Given the description of an element on the screen output the (x, y) to click on. 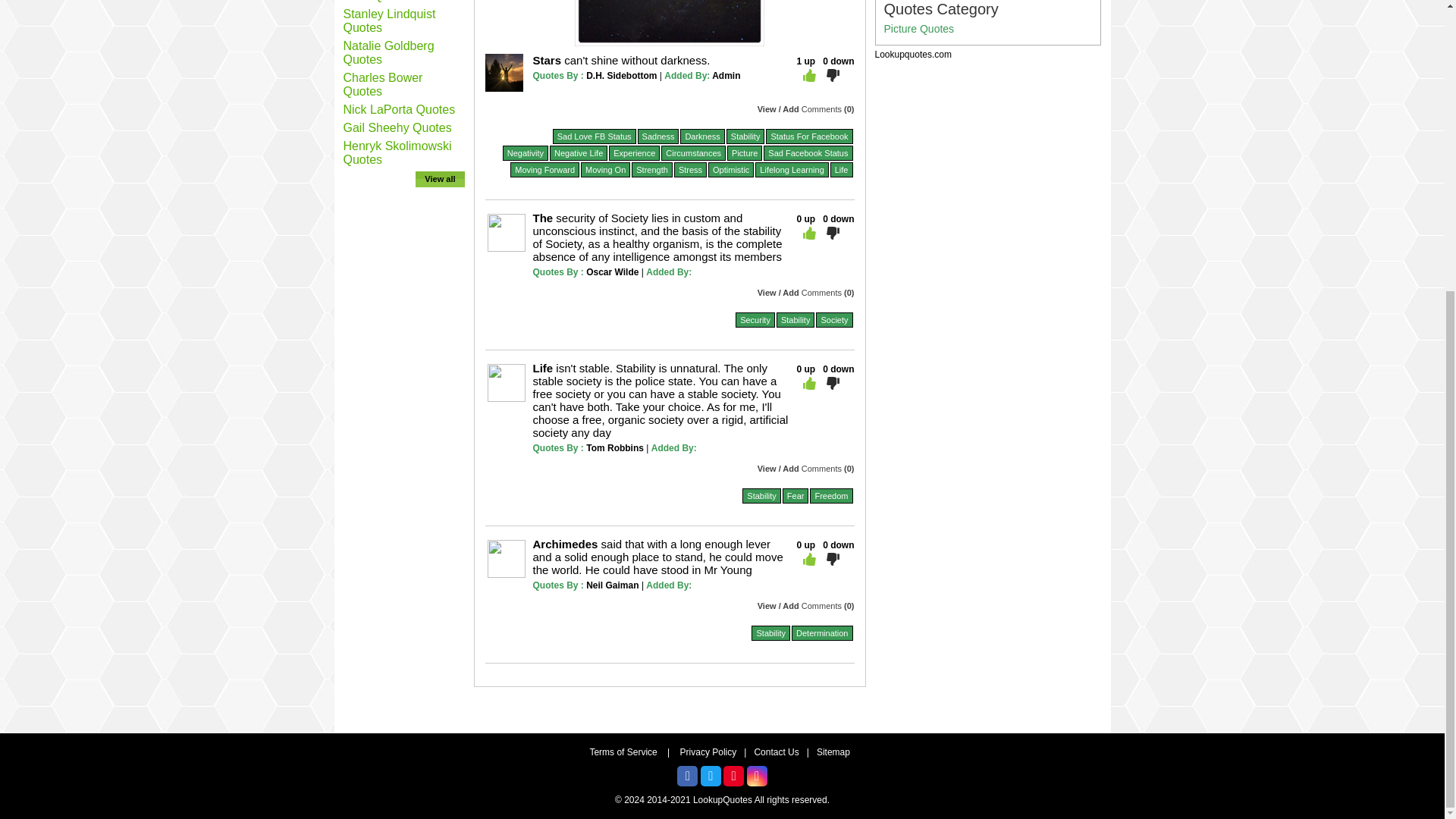
Stanley Lindquist Quotes (388, 20)
Haliz Quotes (377, 1)
Nick LaPorta Quotes (398, 109)
Gail Sheehy Quotes (396, 127)
Natalie Goldberg Quotes (387, 52)
Henryk Skolimowski Quotes (396, 152)
View all (439, 179)
Stars can't shine without darkness. (621, 60)
Charles Bower Quotes (382, 84)
